Given the description of an element on the screen output the (x, y) to click on. 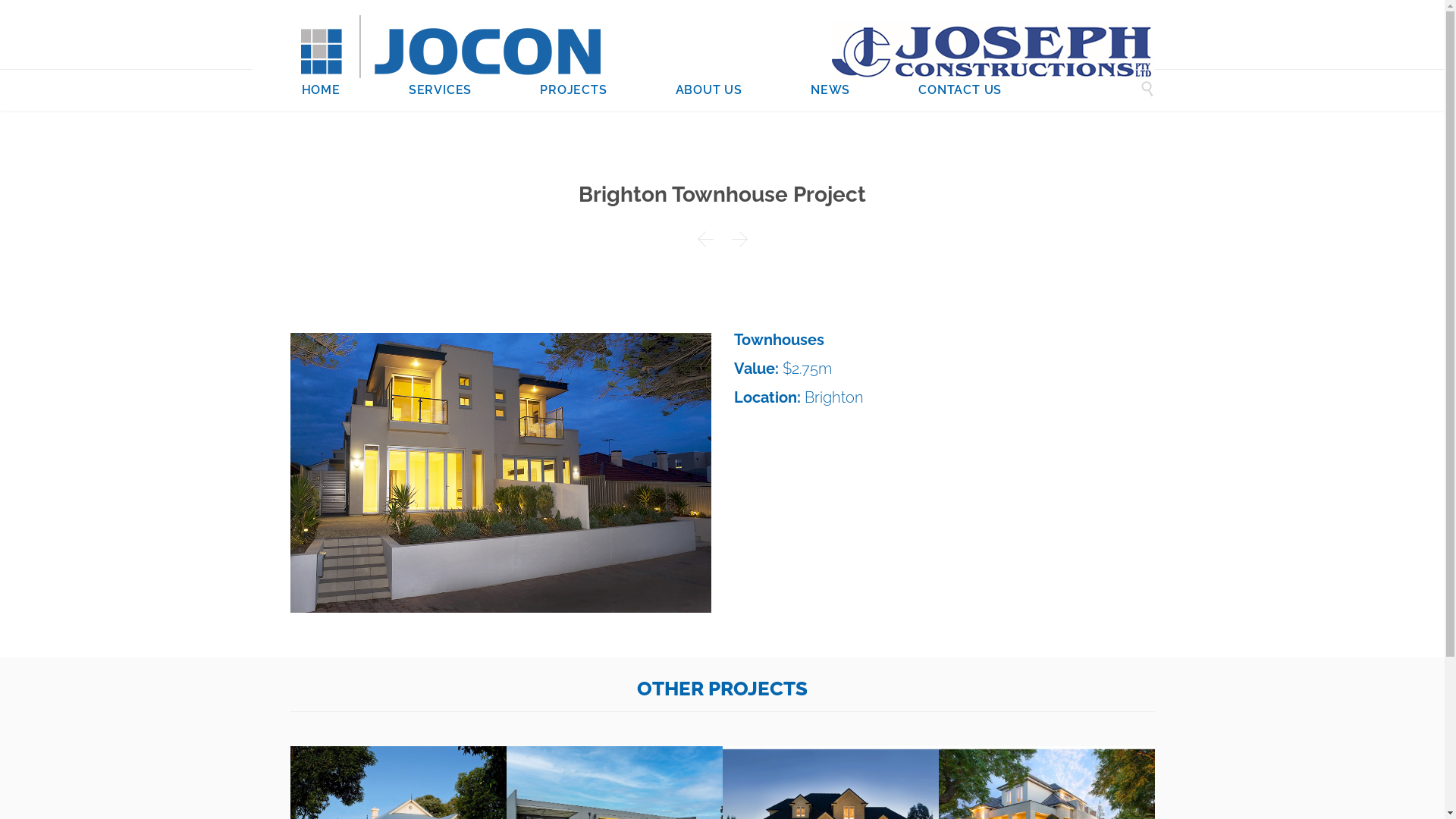
Skip to content Element type: text (709, 69)
SERVICES Element type: text (439, 91)
NEWS Element type: text (830, 91)
ABOUT US Element type: text (708, 91)
HOME Element type: text (320, 91)
Jocon SA & Joseph Constructions Element type: hover (702, 45)
CONTACT US Element type: text (959, 91)
PROJECTS Element type: text (572, 91)
